Given the description of an element on the screen output the (x, y) to click on. 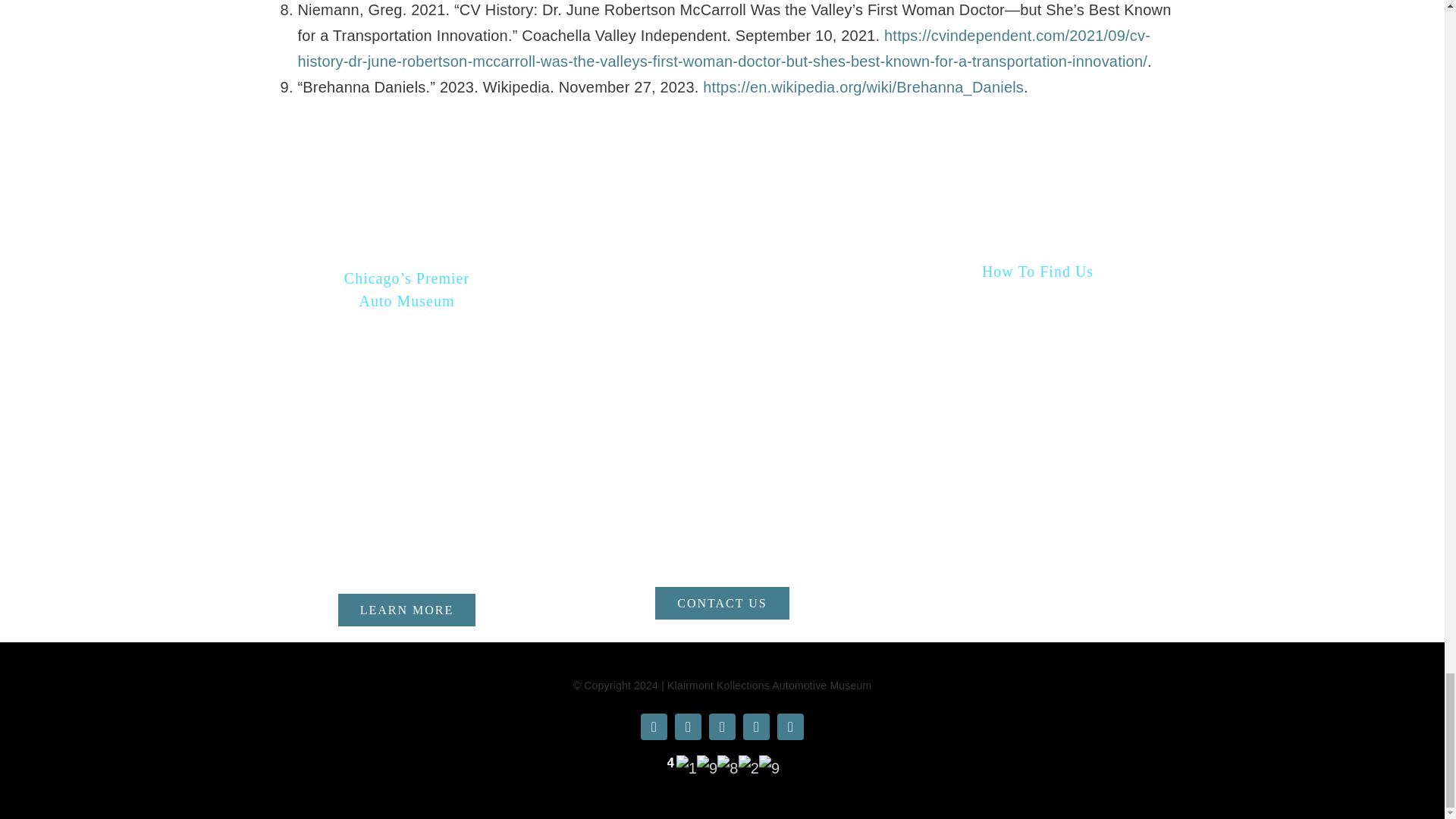
Facebook (653, 726)
kk-logo-180 (721, 311)
Twitter (688, 726)
LinkedIn (790, 726)
YouTube (722, 726)
Instagram (756, 726)
